Given the description of an element on the screen output the (x, y) to click on. 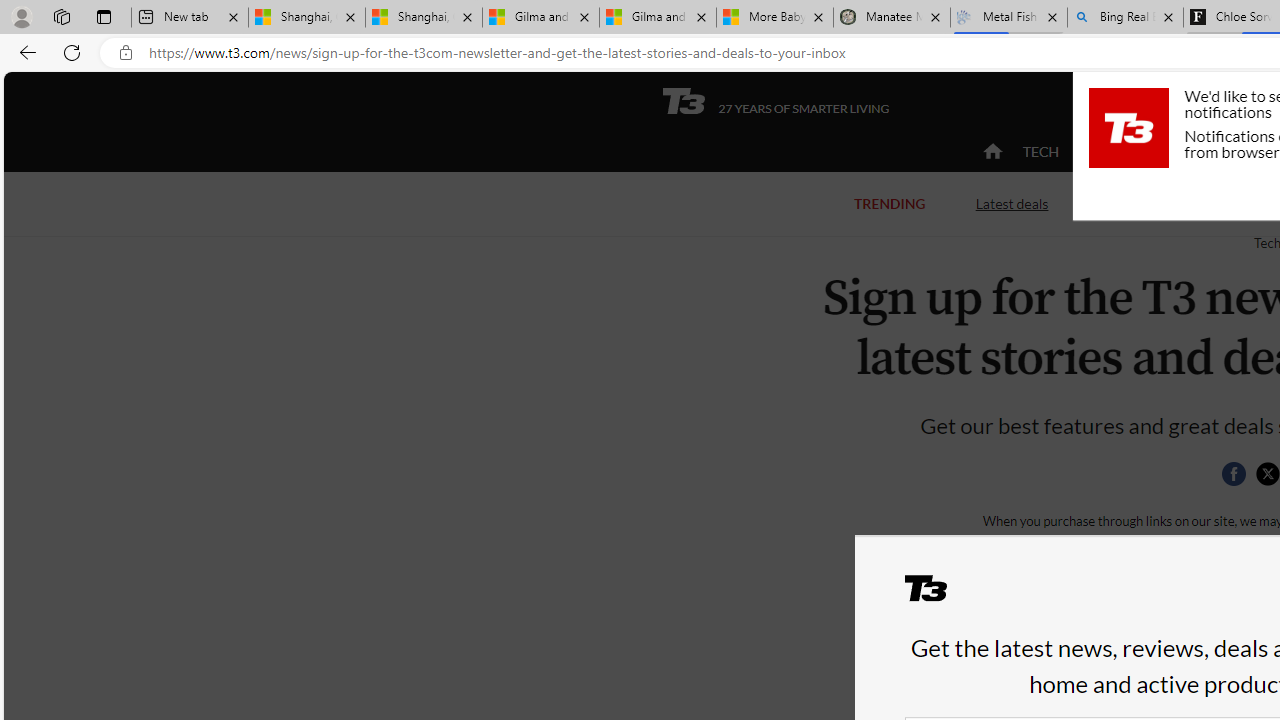
HOME LIVING (1233, 151)
Class: social__item (1238, 477)
TECH (1040, 151)
TECH (1040, 151)
Latest deals (1011, 202)
ACTIVE (1124, 151)
home (992, 152)
T3 (937, 595)
ACTIVE (1124, 151)
